Given the description of an element on the screen output the (x, y) to click on. 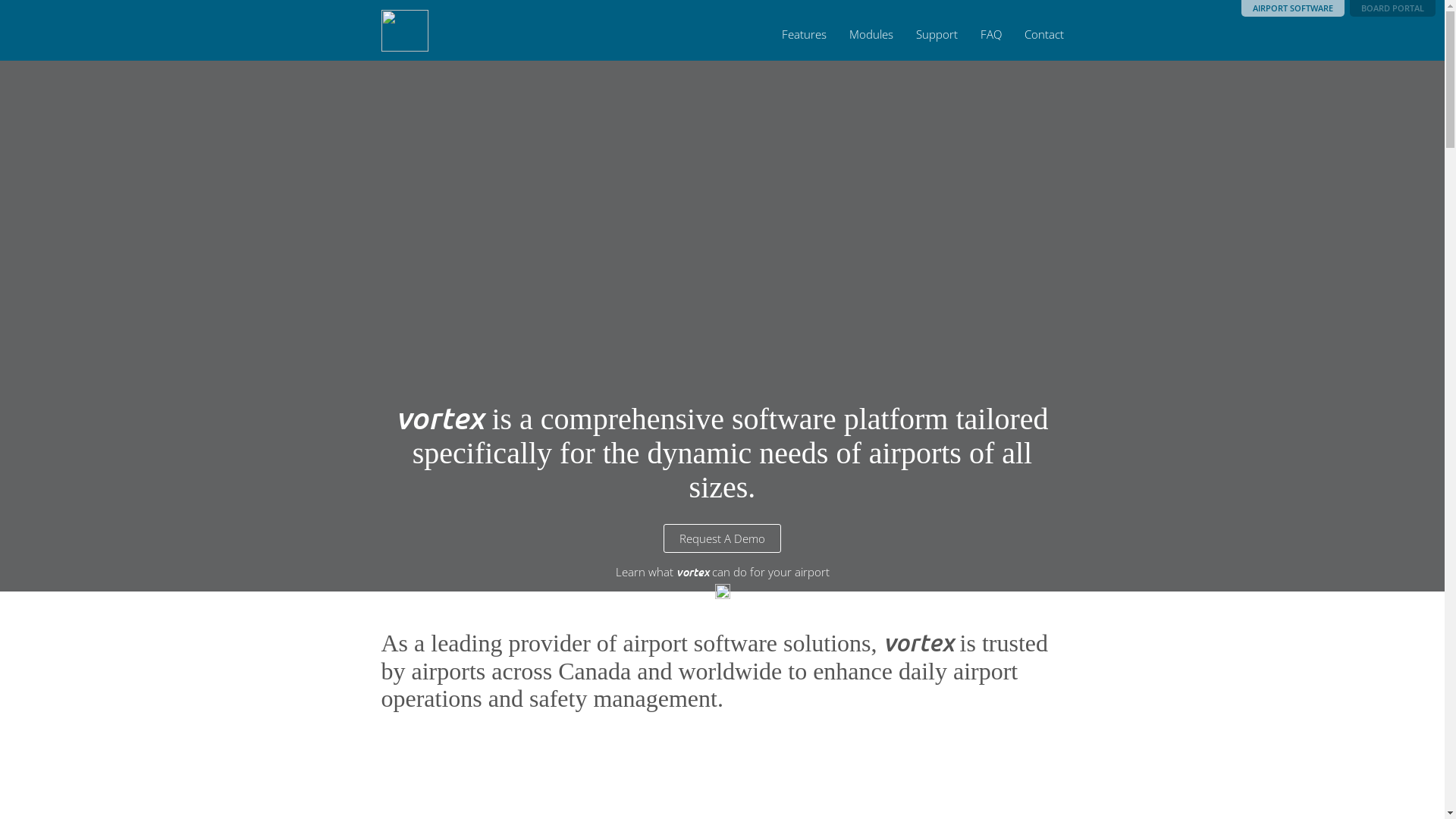
Contact Element type: text (1043, 33)
Modules Element type: text (871, 33)
Support Element type: text (936, 33)
Request A Demo Element type: text (722, 538)
BOARD PORTAL Element type: text (1392, 8)
Features Element type: text (803, 33)
FAQ Element type: text (990, 33)
AIRPORT SOFTWARE Element type: text (1292, 8)
